Given the description of an element on the screen output the (x, y) to click on. 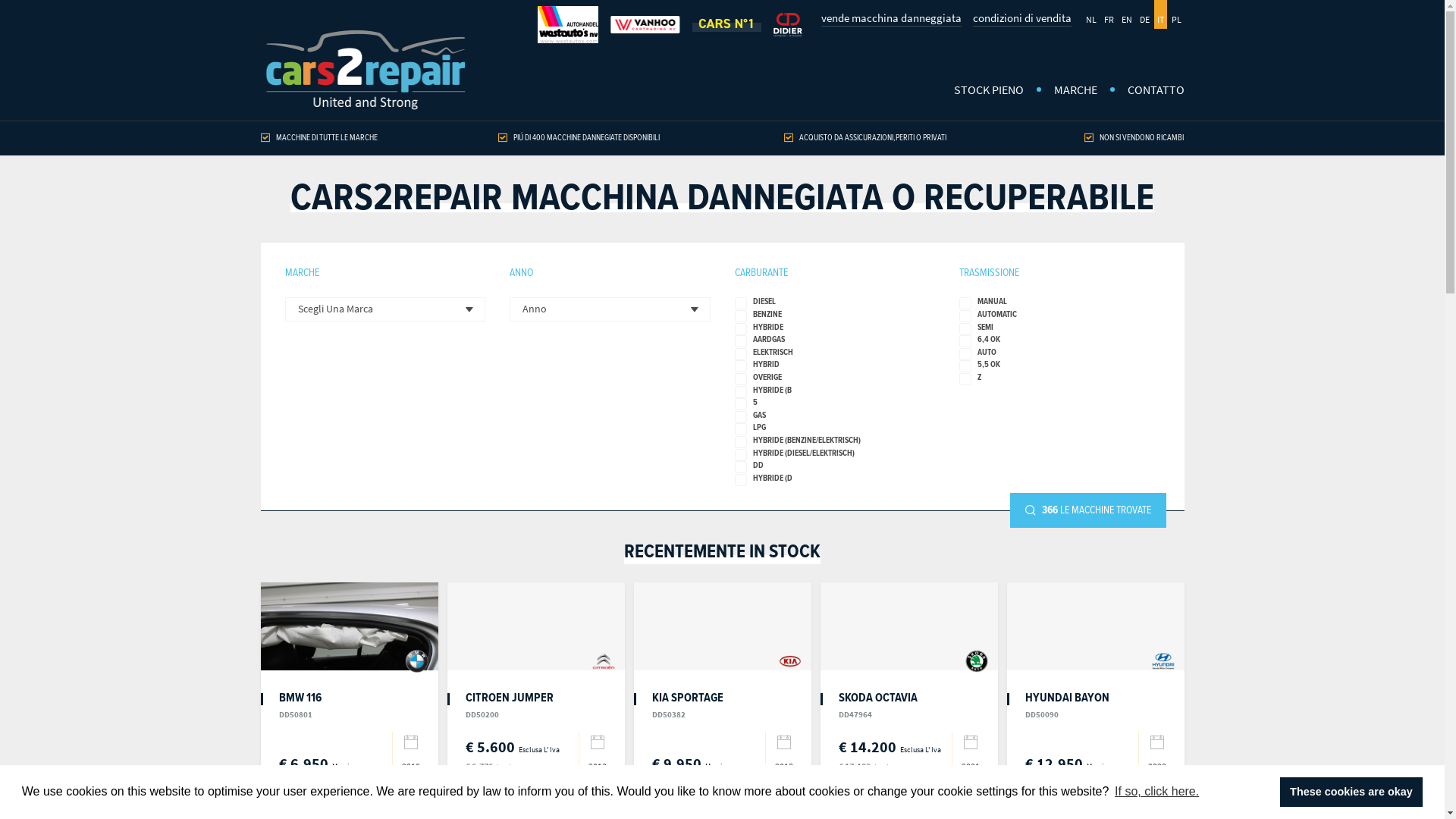
CITROEN Jumper Element type: hover (535, 626)
BMW 116
DD50801 Element type: text (300, 704)
KIA Element type: hover (790, 661)
HYUNDAI Element type: hover (1163, 661)
BMW 116 Element type: hover (349, 626)
VEDI LA MACCHINA Element type: text (722, 799)
366 LE MACCHINE TROVATE Element type: text (1088, 509)
IT Element type: text (1160, 14)
PL Element type: text (1175, 14)
EN Element type: text (1125, 14)
VEDI LA MACCHINA Element type: text (535, 799)
KIA Sportage Element type: hover (722, 626)
STOCK PIENO Element type: text (988, 90)
SKODA Element type: hover (976, 660)
VEDI LA MACCHINA Element type: text (349, 799)
SKODA OCTAVIA
DD47964 Element type: text (877, 704)
NL Element type: text (1090, 14)
If so, click here. Element type: text (1156, 791)
KIA SPORTAGE
DD50382 Element type: text (687, 704)
CITROEN JUMPER
DD50200 Element type: text (509, 704)
DE Element type: text (1143, 14)
VEDI LA MACCHINA Element type: text (908, 799)
These cookies are okay Element type: text (1351, 791)
HYUNDAI BAYON Element type: hover (1095, 626)
FR Element type: text (1109, 14)
CONTATTO Element type: text (1147, 90)
MARCHE Element type: text (1075, 90)
VEDI LA MACCHINA Element type: text (1095, 799)
HYUNDAI BAYON
DD50090 Element type: text (1067, 704)
SKODA Octavia Element type: hover (908, 626)
CITROEN Element type: hover (603, 661)
BMW Element type: hover (416, 661)
